Given the description of an element on the screen output the (x, y) to click on. 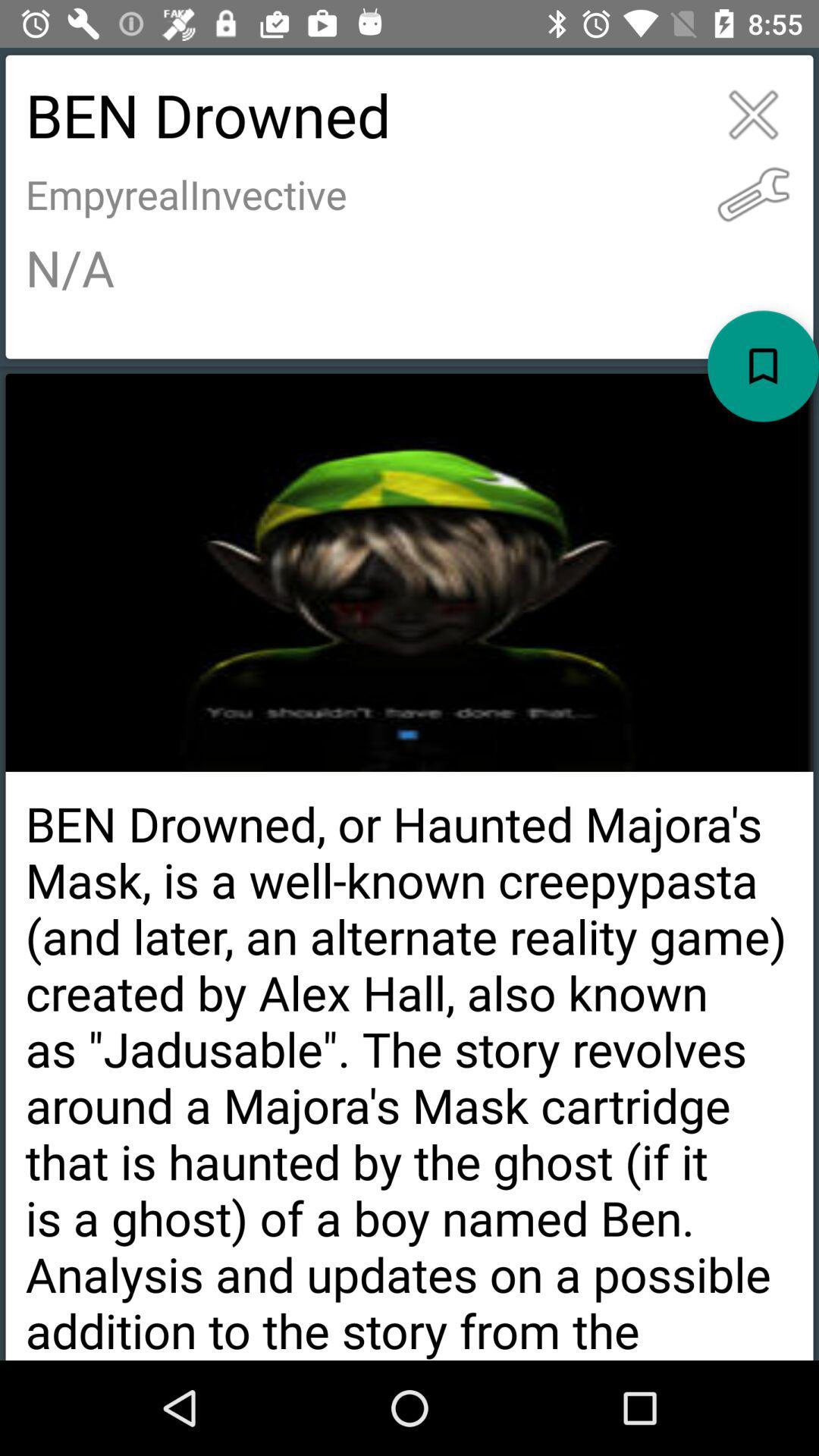
open the item next to ben drowned icon (753, 194)
